Given the description of an element on the screen output the (x, y) to click on. 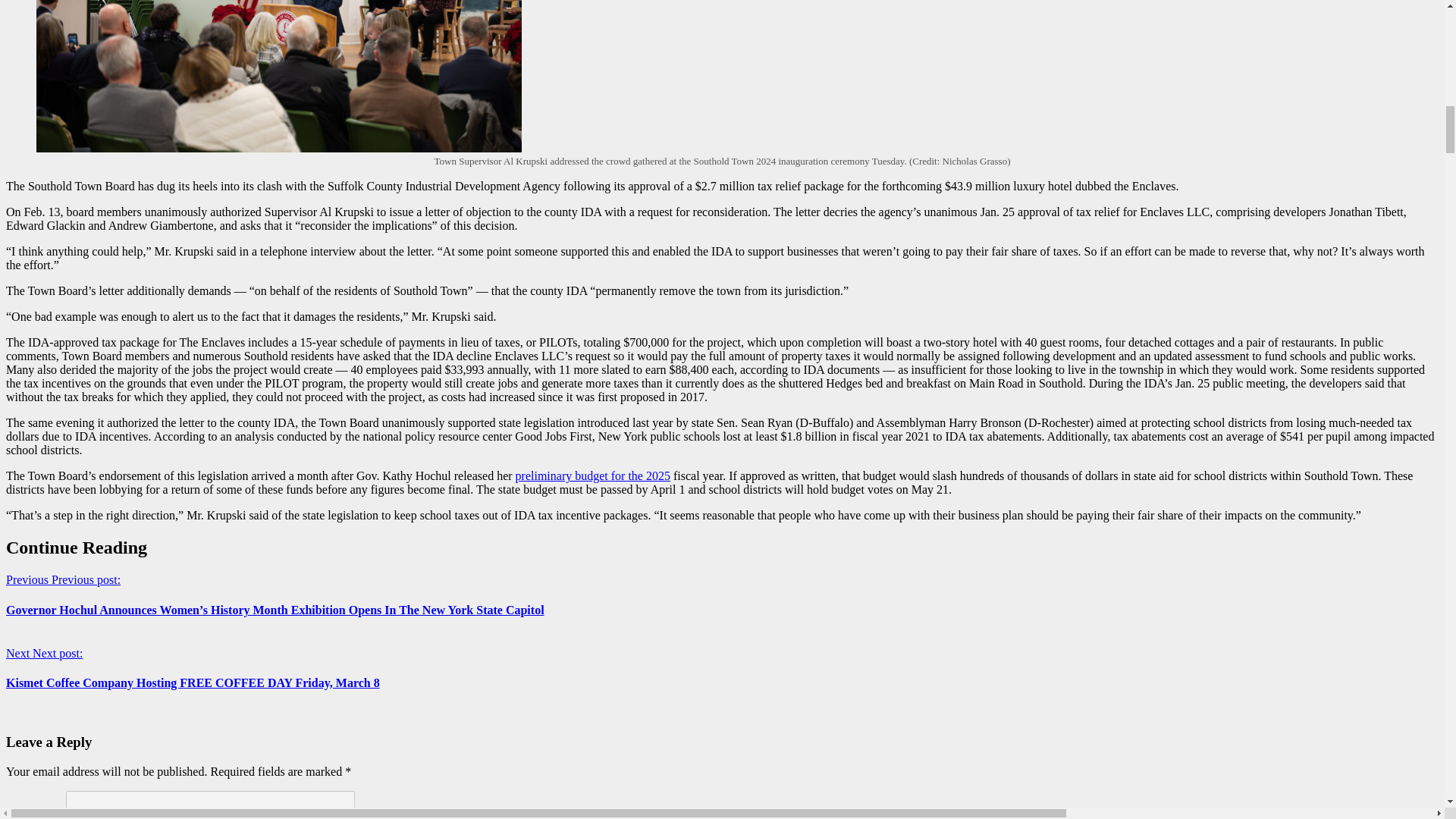
preliminary budget for the 2025 (592, 475)
